Given the description of an element on the screen output the (x, y) to click on. 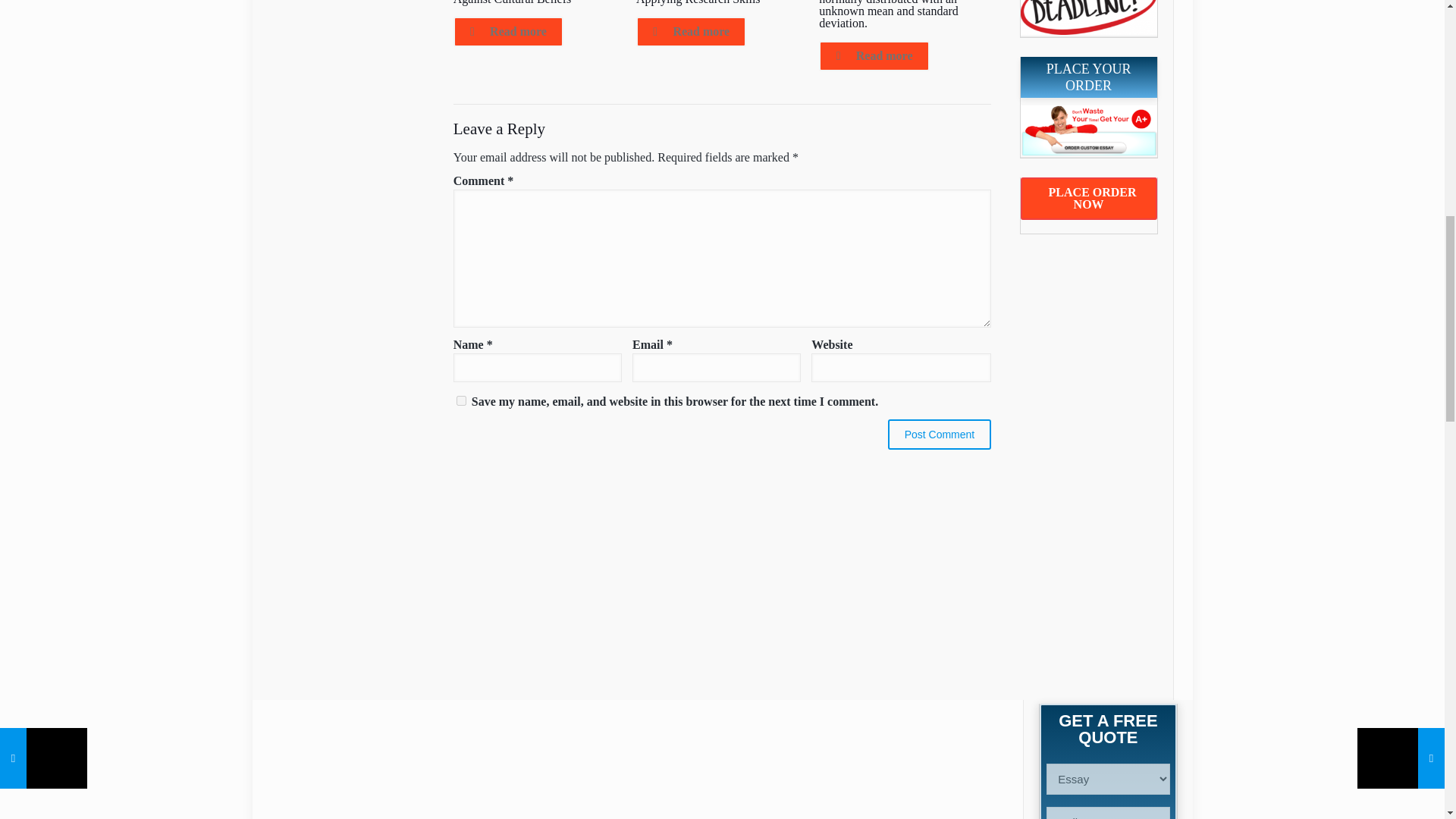
Post Comment (939, 434)
yes (461, 400)
